Given the description of an element on the screen output the (x, y) to click on. 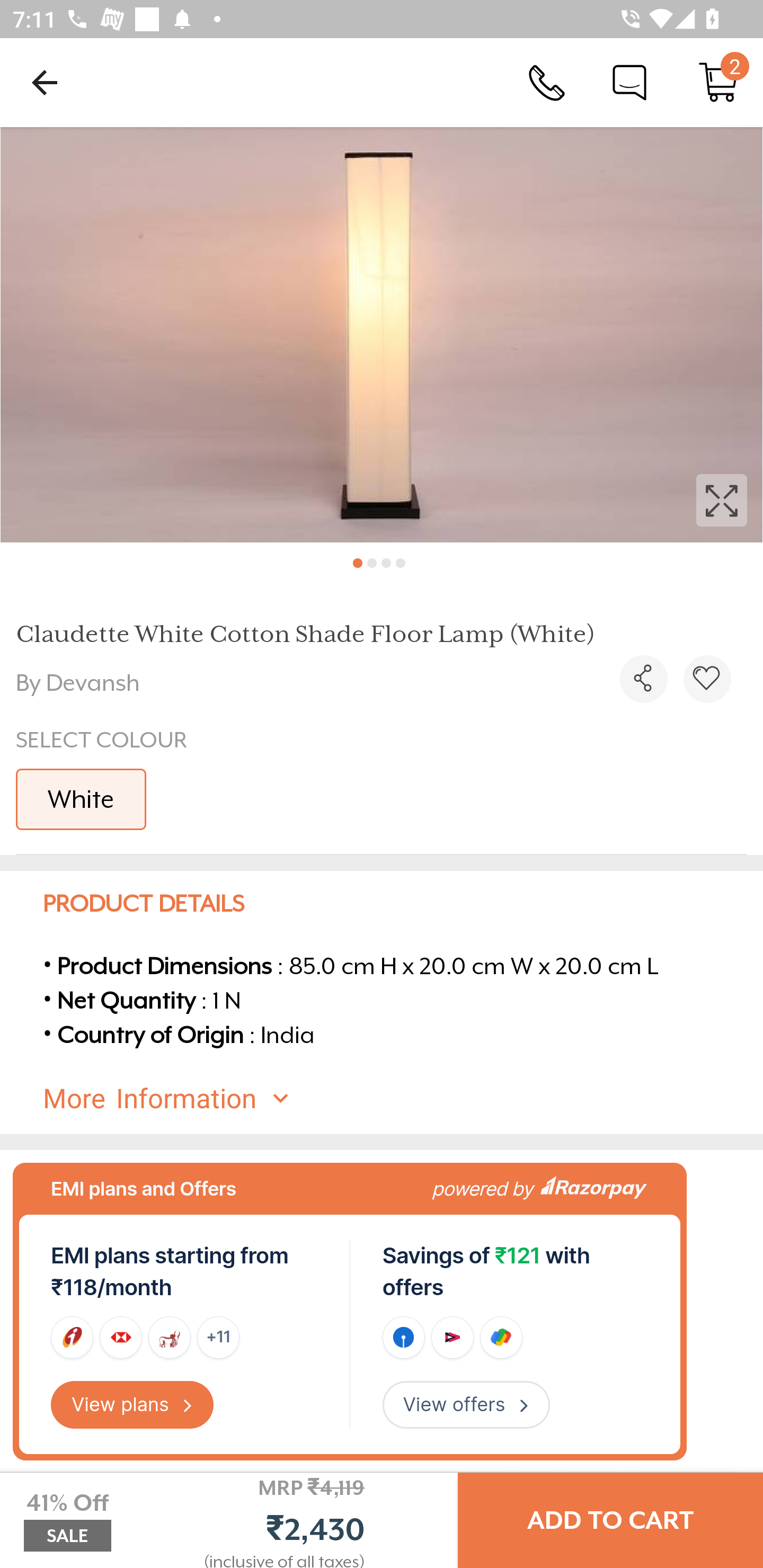
Navigate up (44, 82)
Call Us (546, 81)
Chat (629, 81)
Cart (718, 81)
 (381, 334)
 (643, 678)
 (706, 678)
White (81, 798)
More Information  (396, 1098)
View plans (132, 1404)
View offers (465, 1404)
ADD TO CART (610, 1520)
